Given the description of an element on the screen output the (x, y) to click on. 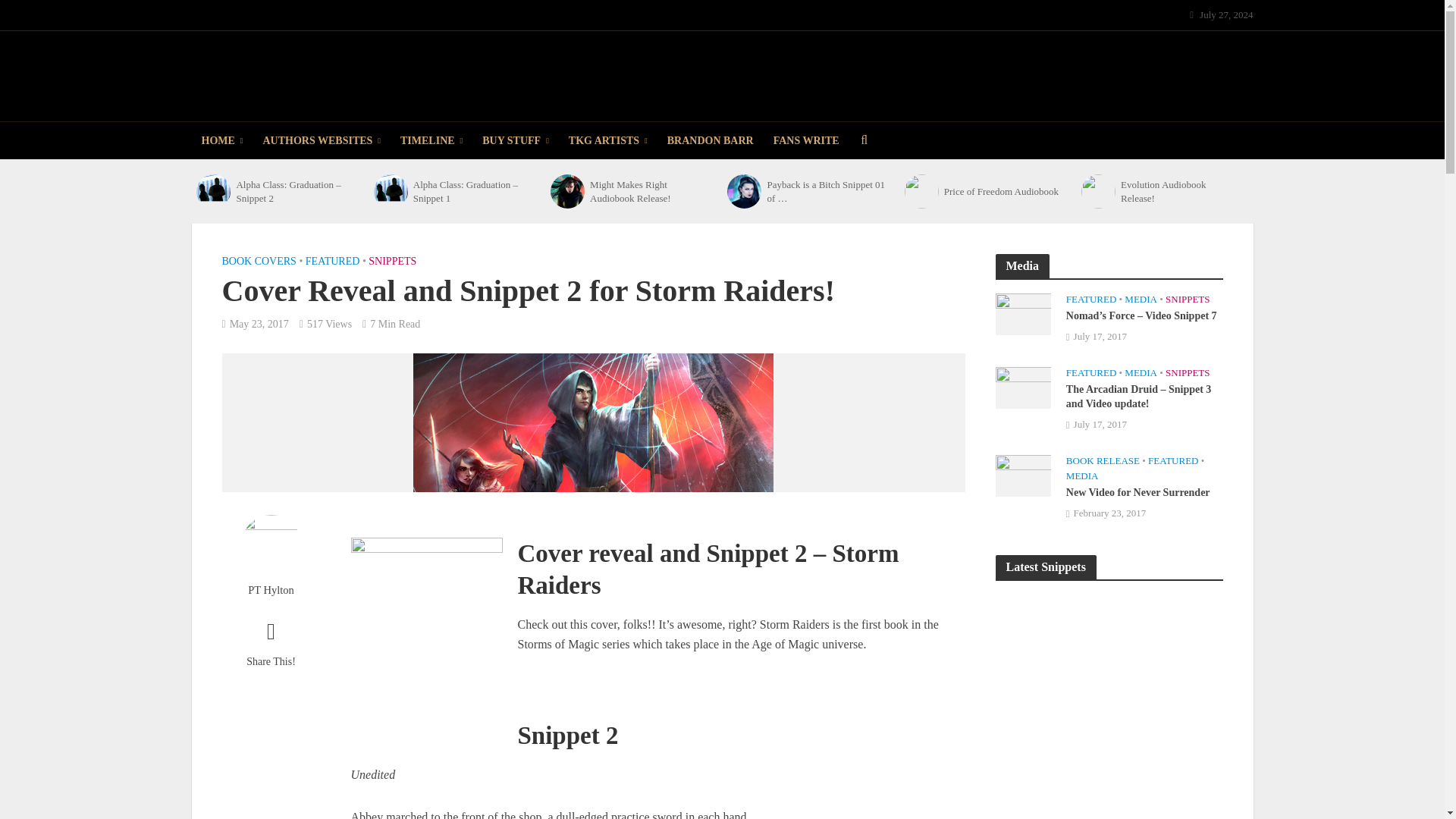
HOME (220, 140)
Evolution Audiobook Release! (1098, 191)
Might Makes Right Audiobook Release! (566, 191)
Price of Freedom Audiobook (921, 191)
AUTHORS WEBSITES (322, 140)
BUY STUFF (515, 140)
TIMELINE (430, 140)
New Video for Never Surrender (1021, 474)
